Given the description of an element on the screen output the (x, y) to click on. 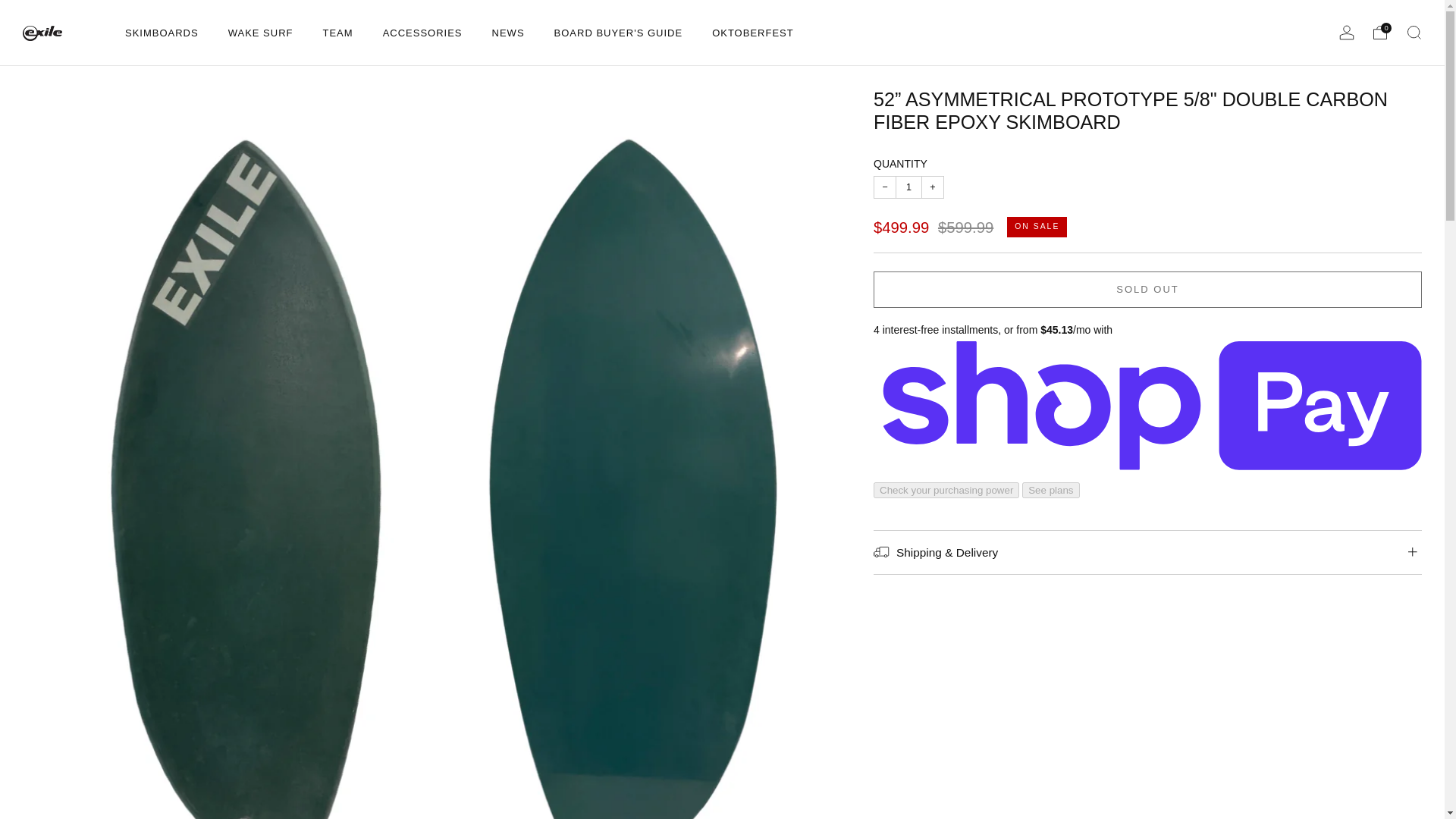
SKIMBOARDS (161, 32)
OKTOBERFEST (752, 32)
0 (1380, 32)
WAKE SURF (261, 32)
ACCESSORIES (422, 32)
TEAM (338, 32)
1 (908, 187)
BOARD BUYER'S GUIDE (618, 32)
NEWS (508, 32)
